Given the description of an element on the screen output the (x, y) to click on. 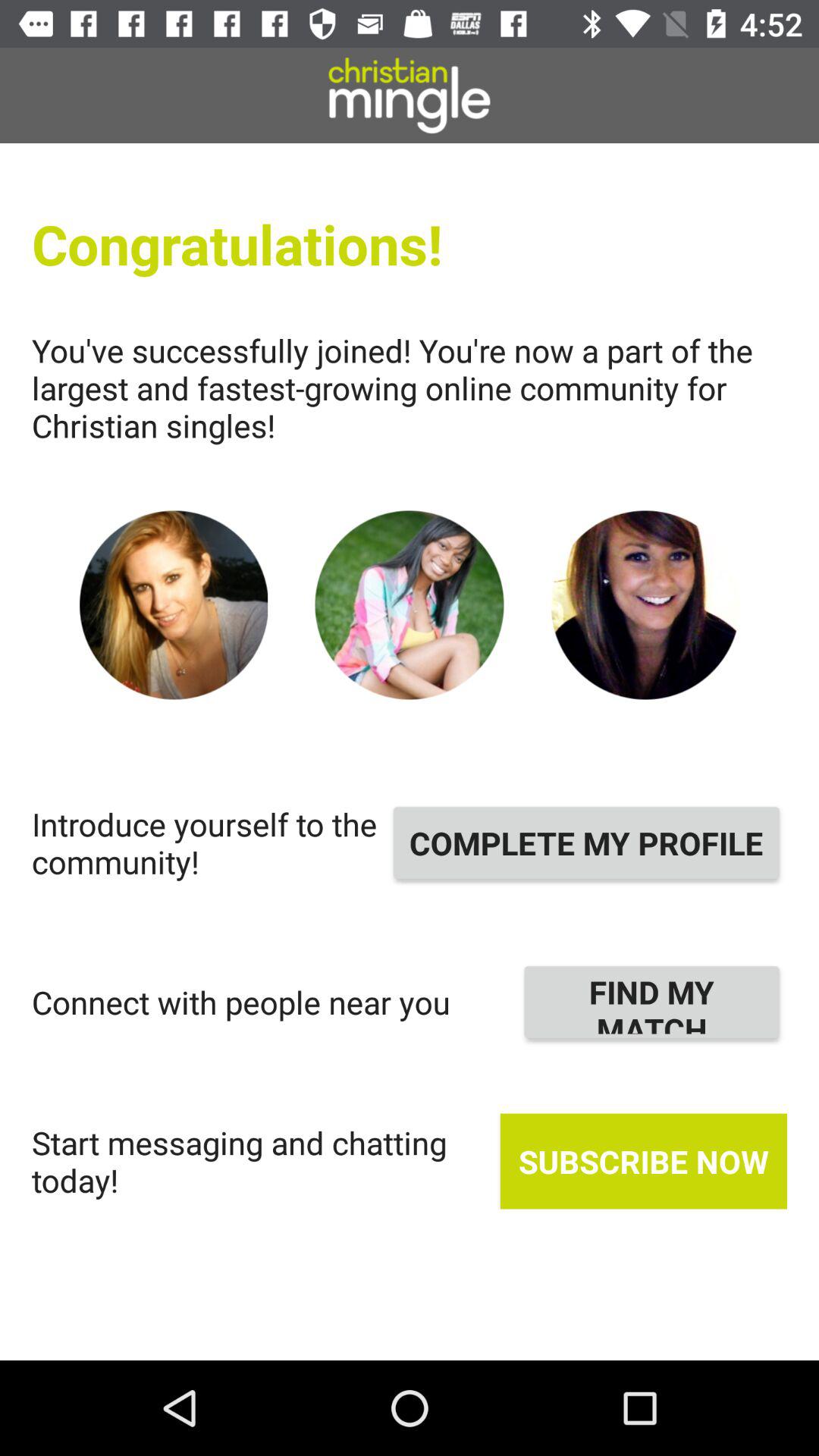
click icon above the find my match (586, 842)
